Given the description of an element on the screen output the (x, y) to click on. 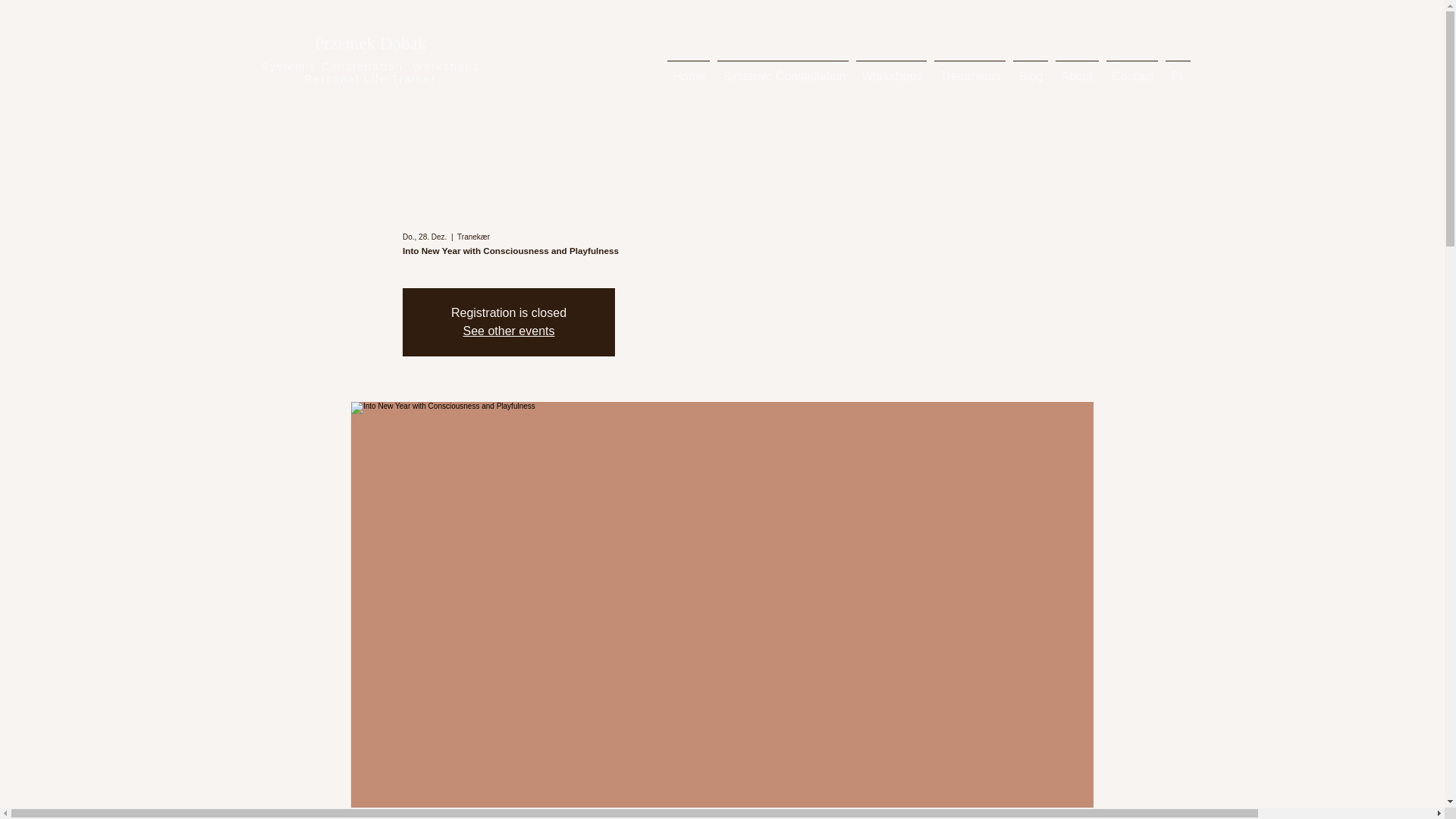
Contact (1131, 69)
Blog (1030, 69)
Personal Life Trainer (369, 78)
Systemic Constellation, Workshops (369, 66)
About (1076, 69)
See other events (508, 330)
Treatments (969, 69)
Home (687, 69)
Systemic Constellation (782, 69)
PL (1177, 69)
